Given the description of an element on the screen output the (x, y) to click on. 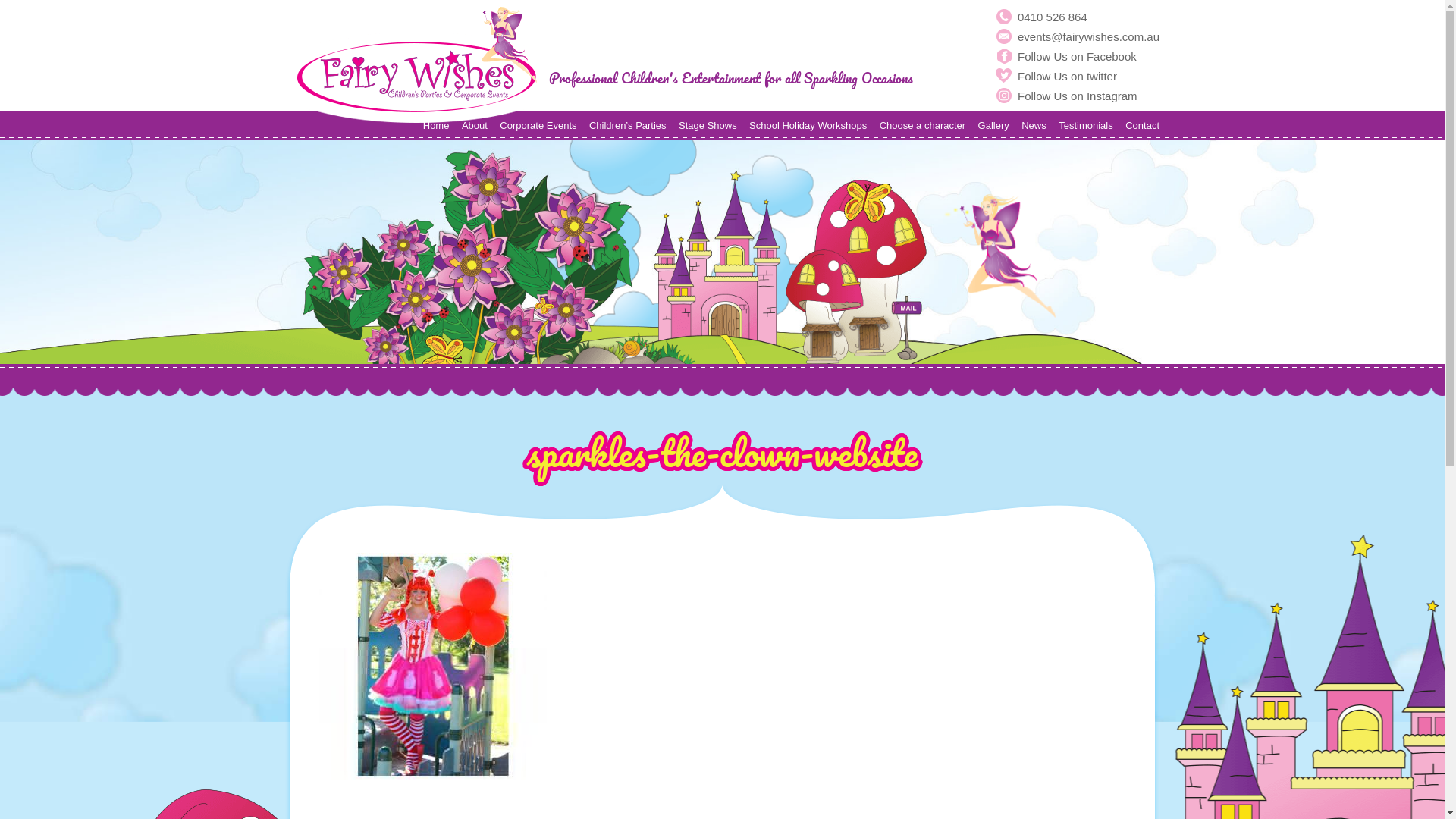
Testimonials Element type: text (1085, 125)
Follow Us on Instagram Element type: text (1077, 95)
Stage Shows Element type: text (707, 125)
Choose a character Element type: text (922, 125)
News Element type: text (1033, 125)
0410 526 864 Element type: text (1077, 17)
Follow Us on twitter Element type: text (1077, 76)
School Holiday Workshops Element type: text (807, 125)
Gallery Element type: text (993, 125)
About Element type: text (474, 125)
Follow Us on Facebook Element type: text (1077, 56)
events@fairywishes.com.au Element type: text (1077, 36)
Contact Element type: text (1142, 125)
Corporate Events Element type: text (537, 125)
Home Element type: text (436, 125)
